Given the description of an element on the screen output the (x, y) to click on. 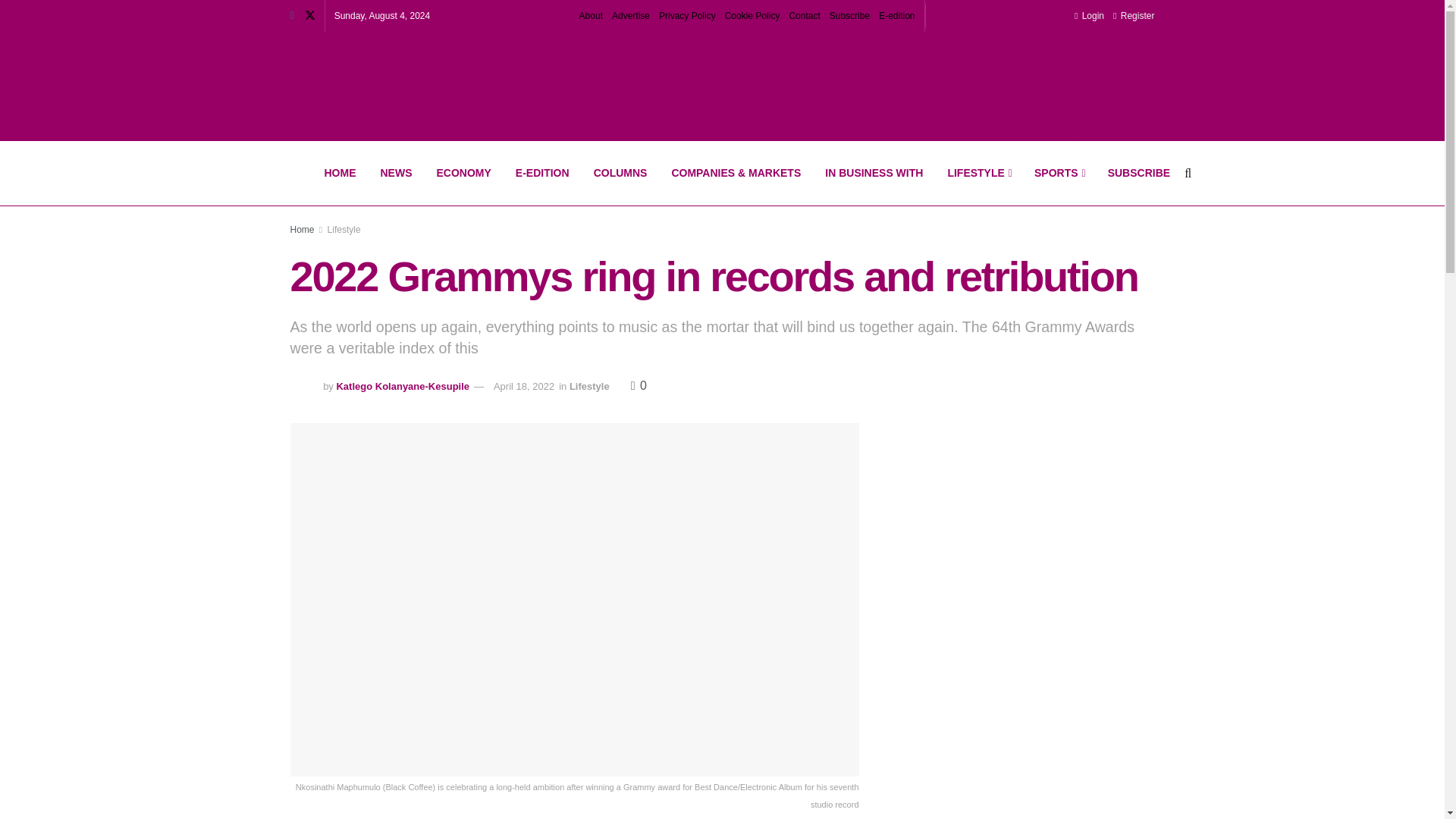
E-EDITION (541, 172)
E-edition (896, 15)
Contact (804, 15)
Advertise (630, 15)
Privacy Policy (687, 15)
Login (1088, 15)
COLUMNS (619, 172)
SPORTS (1059, 172)
ECONOMY (464, 172)
LIFESTYLE (978, 172)
Register (1133, 15)
Subscribe (849, 15)
Cookie Policy (752, 15)
SUBSCRIBE (1139, 172)
IN BUSINESS WITH (873, 172)
